Given the description of an element on the screen output the (x, y) to click on. 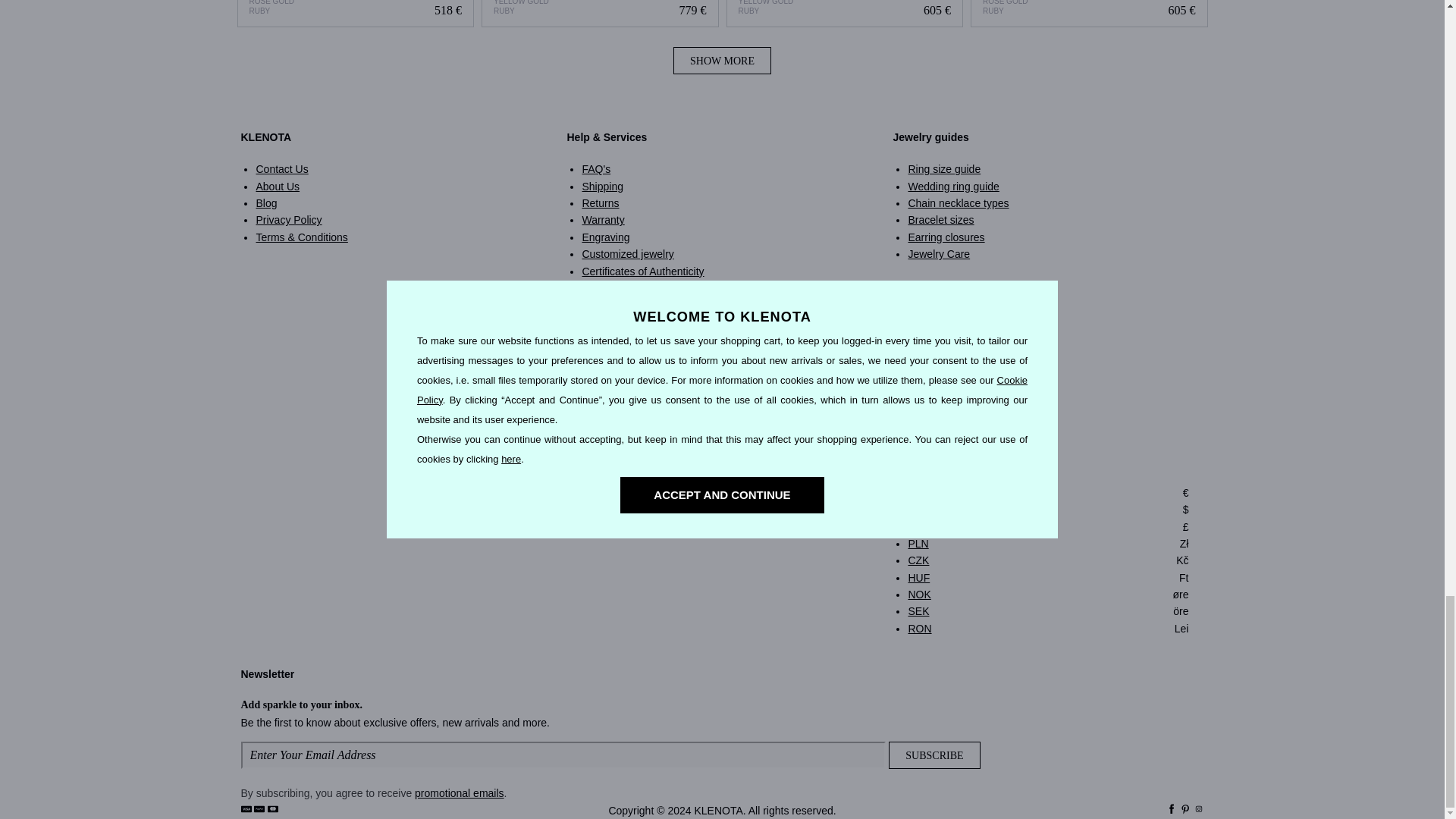
Facebook (1171, 810)
Ruby Ribbon Necklace in Rose Gold (354, 13)
Ruby Ring in Rose Gold (1089, 13)
Ruby Ring in Rose Gold (1089, 13)
Ruby ring in 14k yellow gold (844, 13)
Ruby ring in 14k yellow gold (844, 13)
Ruby Ribbon Necklace in Rose Gold (356, 13)
Pinterest (1185, 810)
Instagram (1198, 810)
Round Ruby Gold Ribbon Earrings (600, 13)
Round Ruby Gold Ribbon Earrings (599, 13)
